Given the description of an element on the screen output the (x, y) to click on. 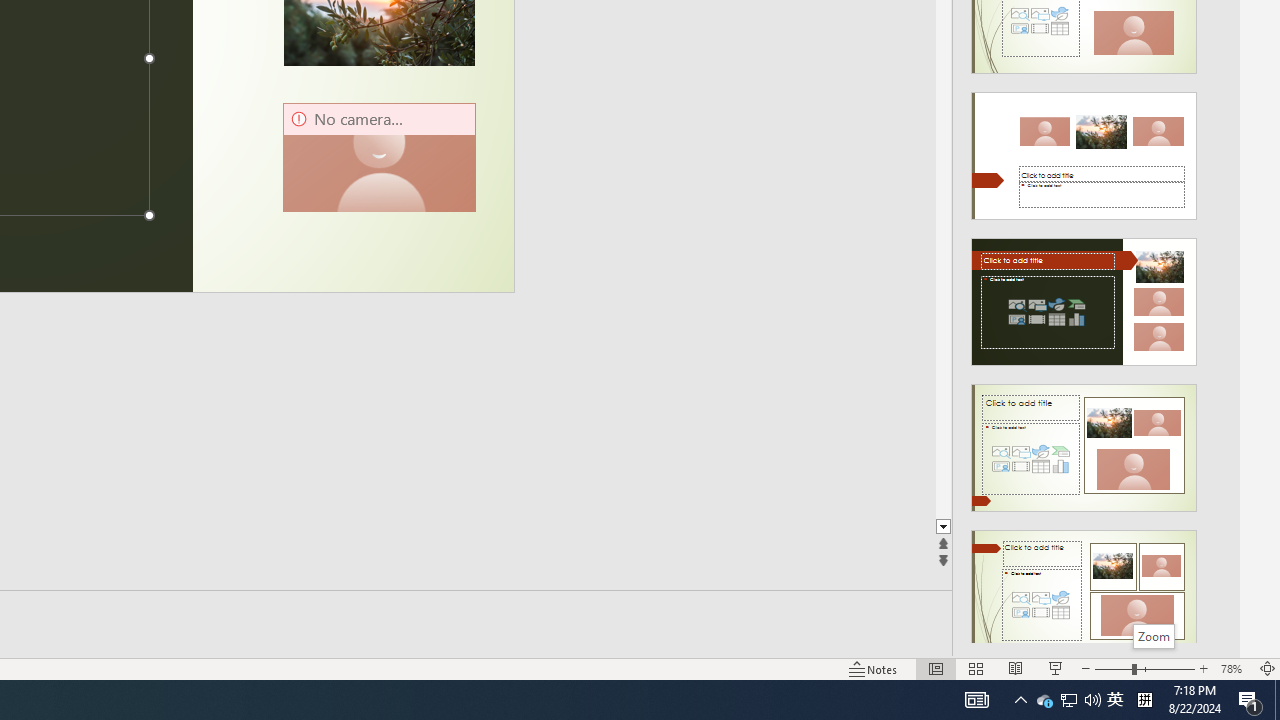
Camera 13, No camera detected. (379, 157)
Design Idea (1083, 587)
Zoom 78% (1234, 668)
